Given the description of an element on the screen output the (x, y) to click on. 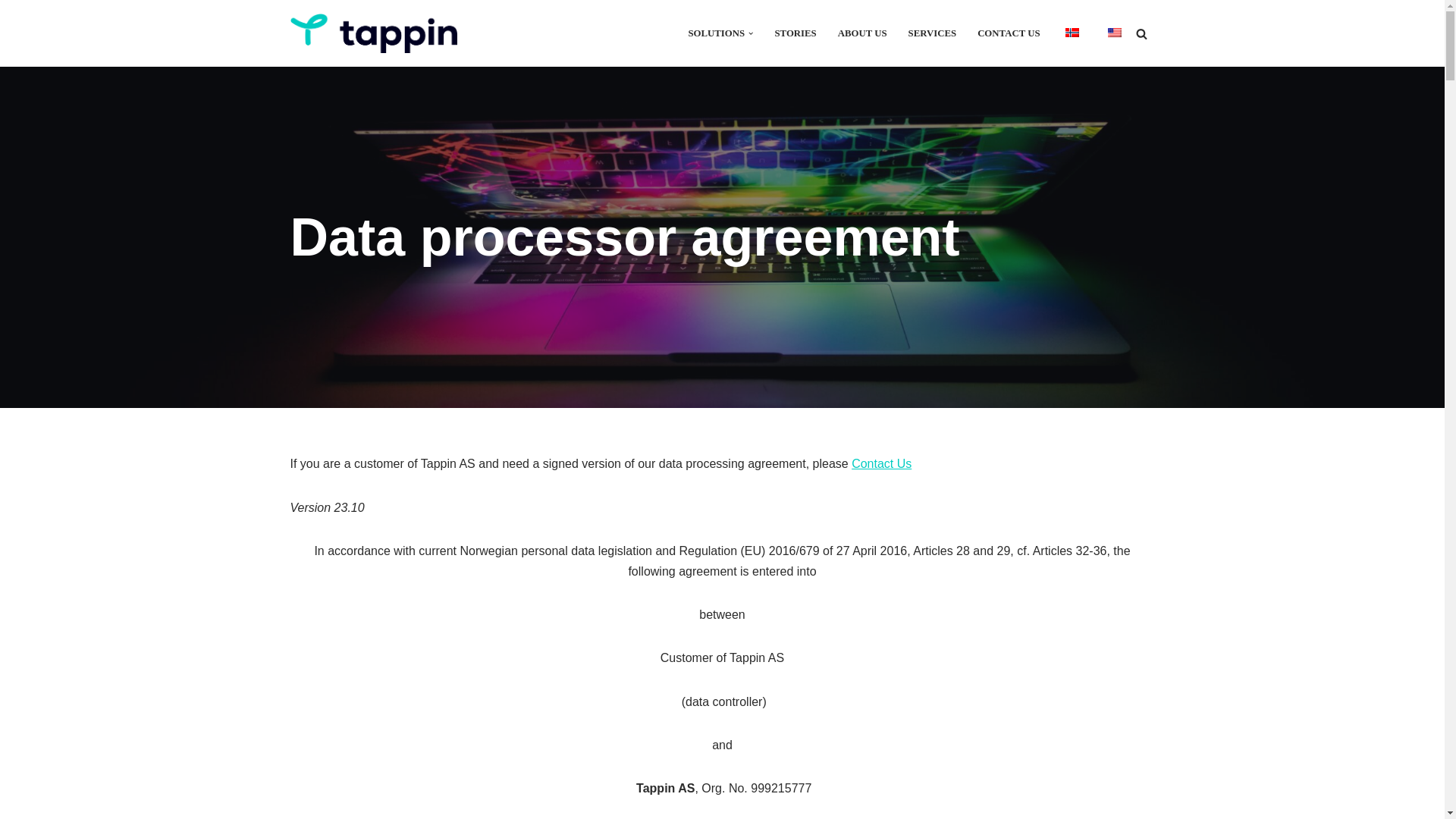
STORIES (794, 33)
English (1113, 31)
SERVICES (932, 33)
CONTACT US (1007, 33)
ABOUT US (862, 33)
Skip to content (11, 31)
SOLUTIONS (715, 33)
Contact Us (881, 463)
